Given the description of an element on the screen output the (x, y) to click on. 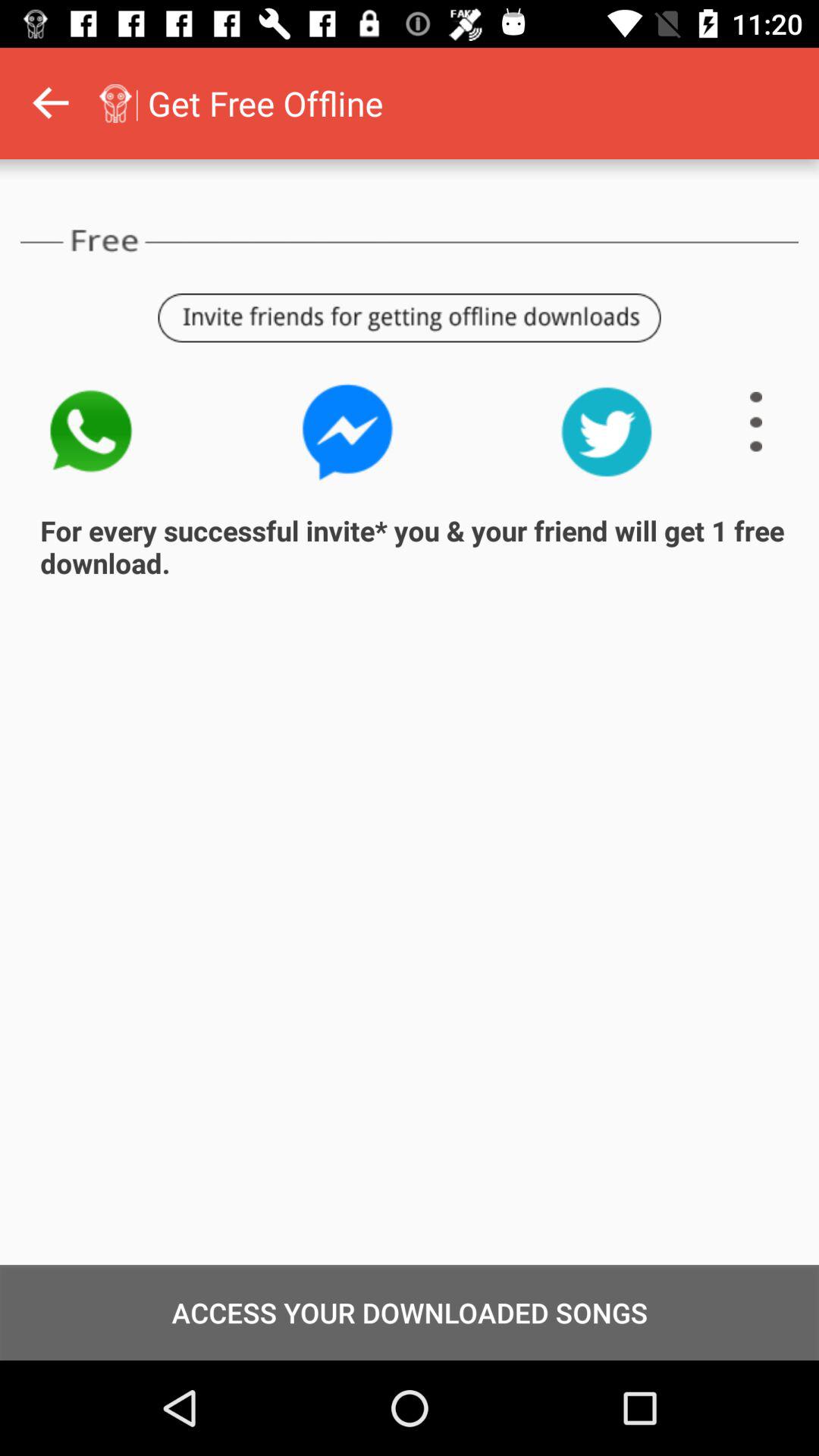
view options (756, 421)
